Given the description of an element on the screen output the (x, y) to click on. 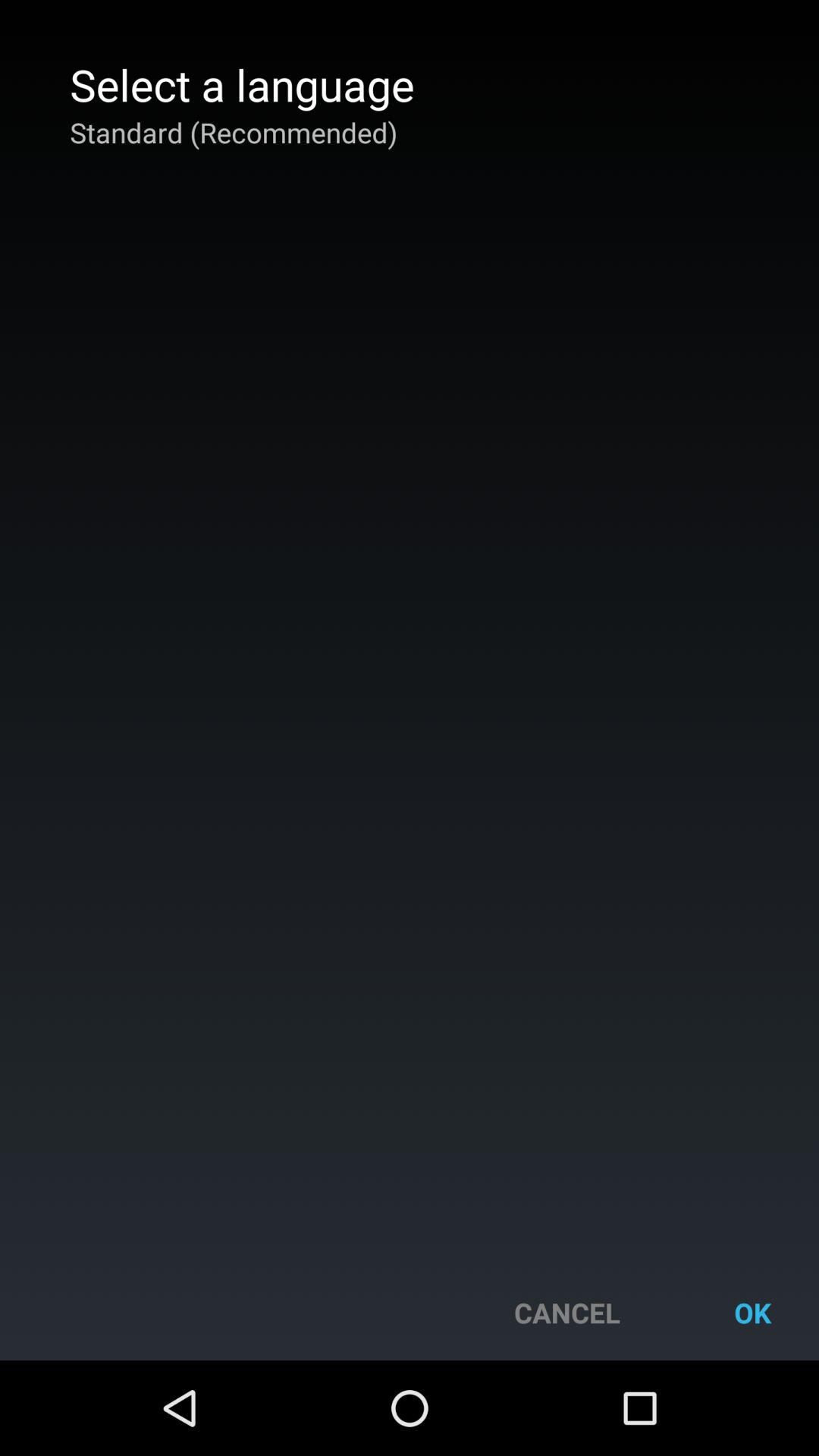
click cancel button (566, 1312)
